Given the description of an element on the screen output the (x, y) to click on. 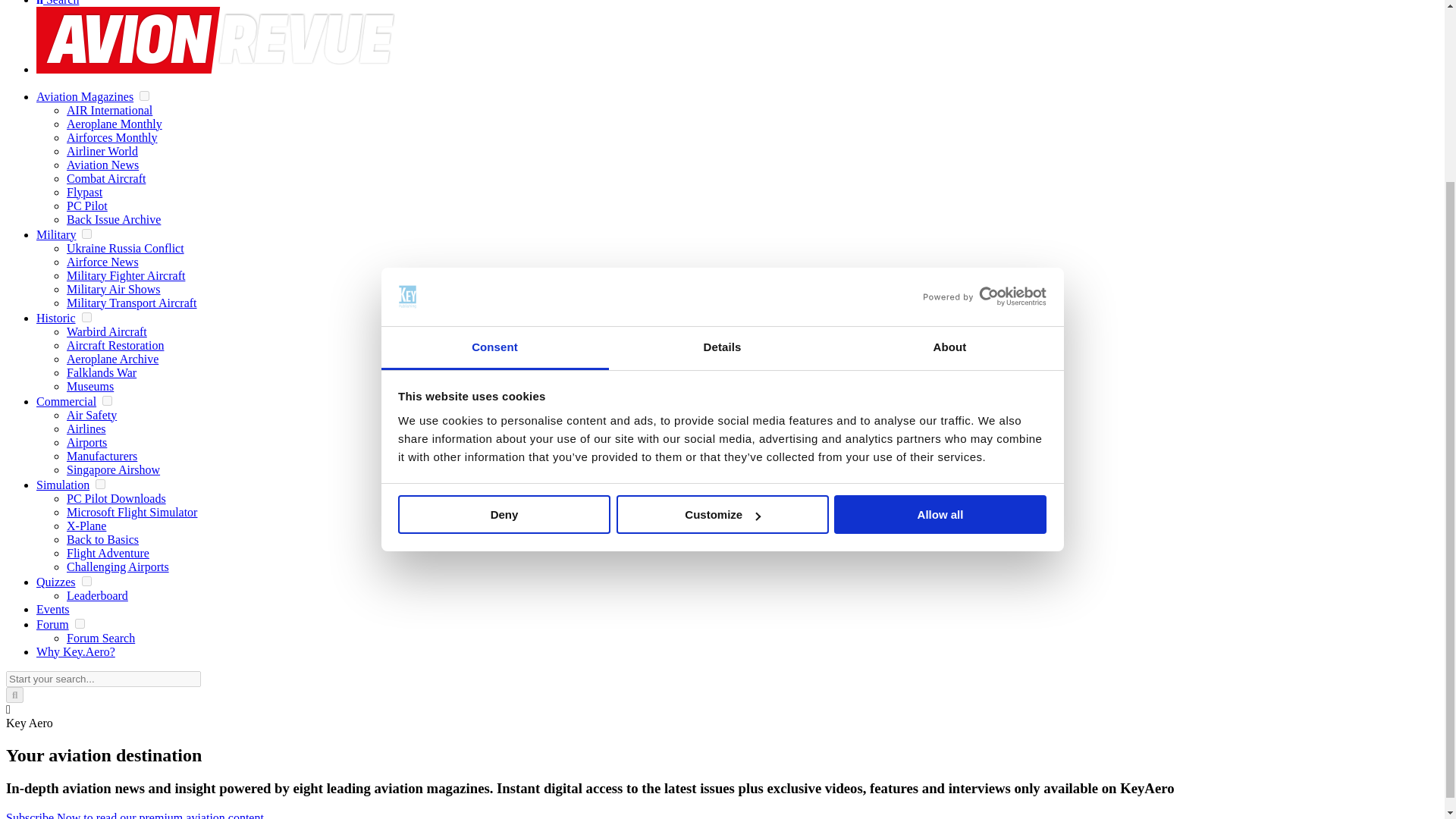
on (106, 400)
on (86, 581)
About (948, 120)
on (144, 95)
on (86, 234)
on (79, 623)
on (86, 317)
on (100, 483)
Details (721, 120)
Consent (494, 120)
